Given the description of an element on the screen output the (x, y) to click on. 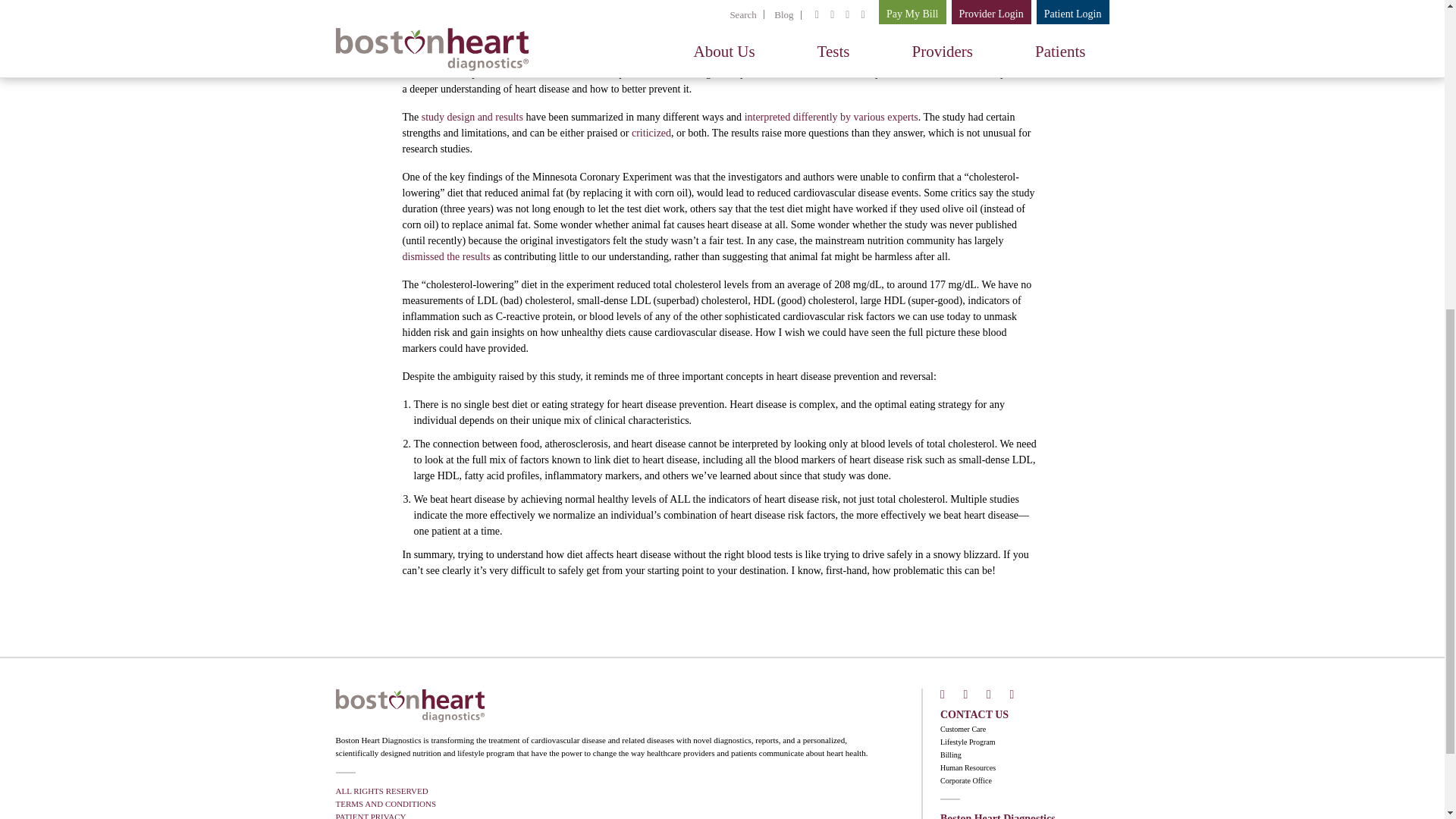
FB (950, 694)
study design and results (472, 116)
criticized (651, 132)
Lifestyle Program (967, 741)
IG (1020, 694)
TERMS AND CONDITIONS (384, 803)
Corporate Office (965, 780)
interpreted differently by various experts (831, 116)
LI (997, 694)
TW (973, 694)
Billing (950, 755)
dismissed the results (445, 255)
ALL RIGHTS RESERVED (381, 790)
Human Resources (967, 766)
Customer Care (962, 728)
